Given the description of an element on the screen output the (x, y) to click on. 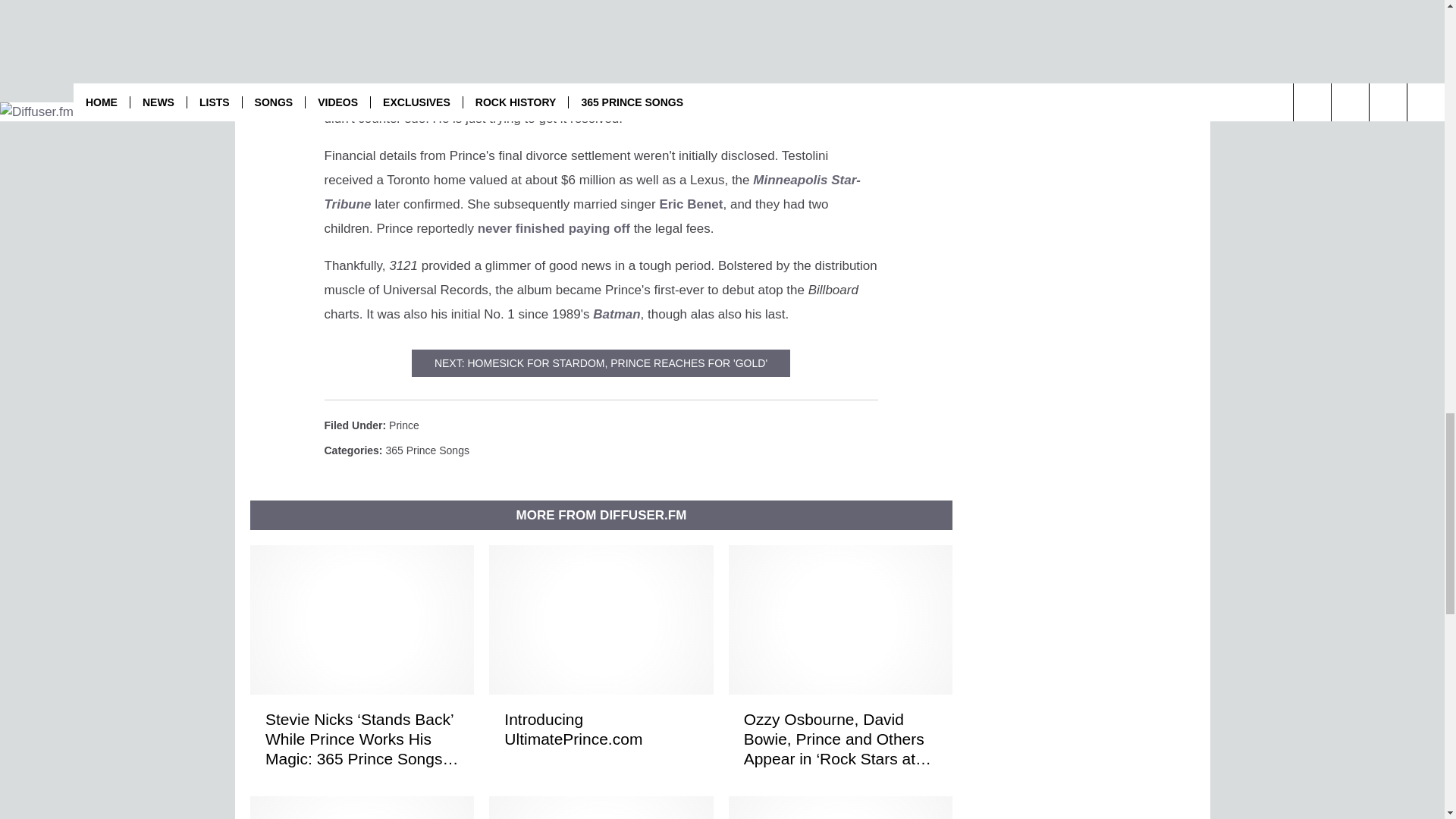
Prince (403, 425)
subsequently released (791, 8)
Minneapolis Star-Tribune (592, 191)
Eric Benet (690, 204)
Batman (616, 314)
never finished paying off (553, 228)
Introducing UltimatePrince.com (600, 729)
365 Prince Songs (426, 450)
NEXT: HOMESICK FOR STARDOM, PRINCE REACHES FOR 'GOLD' (601, 362)
People (612, 93)
